Given the description of an element on the screen output the (x, y) to click on. 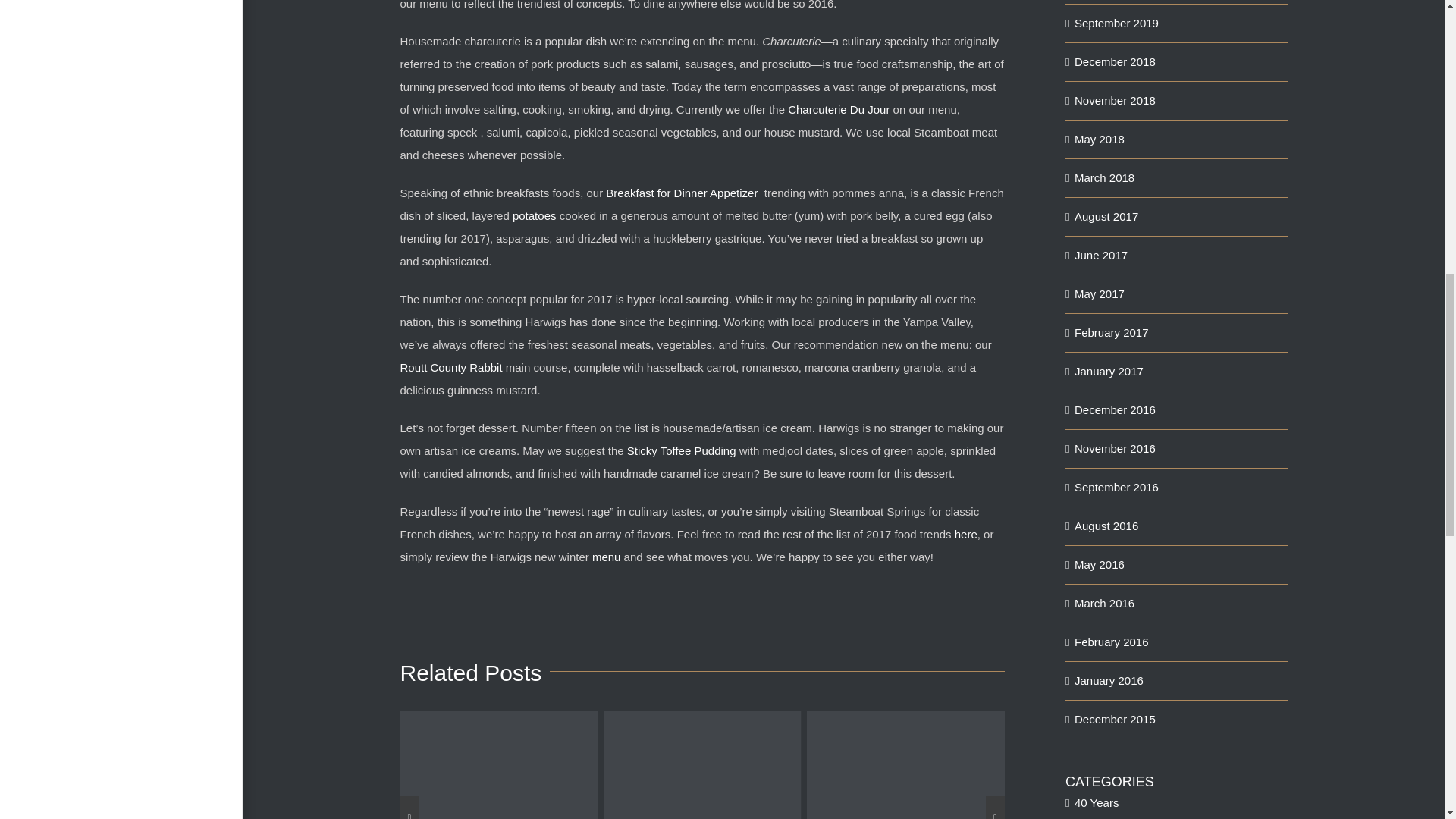
potatoes (534, 215)
Sticky Toffee Pudding (681, 450)
Charcuterie Du Jour (838, 109)
Routt County Rabbit (451, 367)
Breakfast for Dinner Appetizer (682, 192)
menu (606, 556)
here (965, 533)
